Given the description of an element on the screen output the (x, y) to click on. 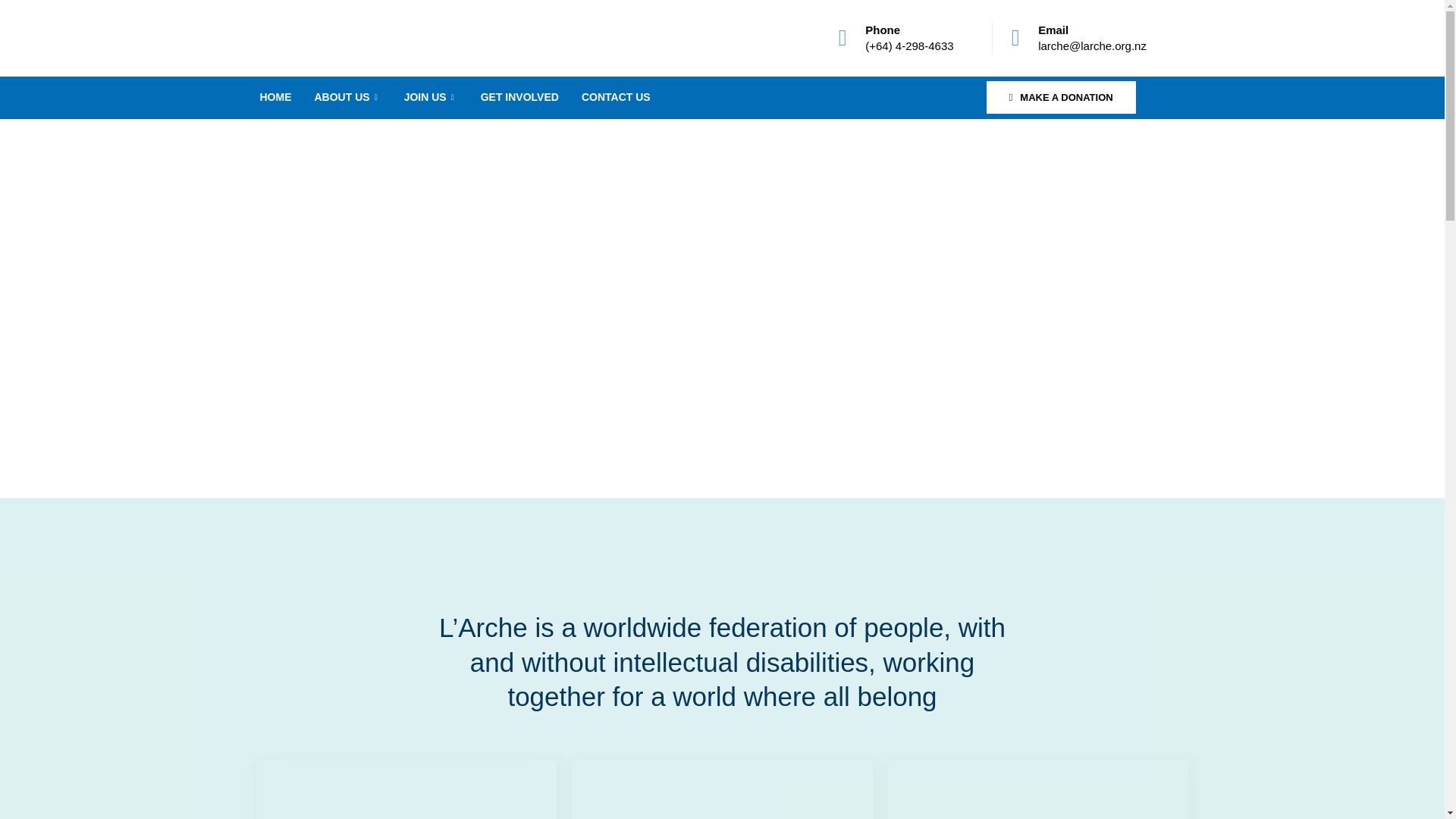
HOME (275, 97)
ABOUT US (347, 97)
MAKE A DONATION (1061, 97)
CONTACT US (616, 97)
Skip to content (11, 31)
JOIN US (430, 97)
GET INVOLVED (519, 97)
